Given the description of an element on the screen output the (x, y) to click on. 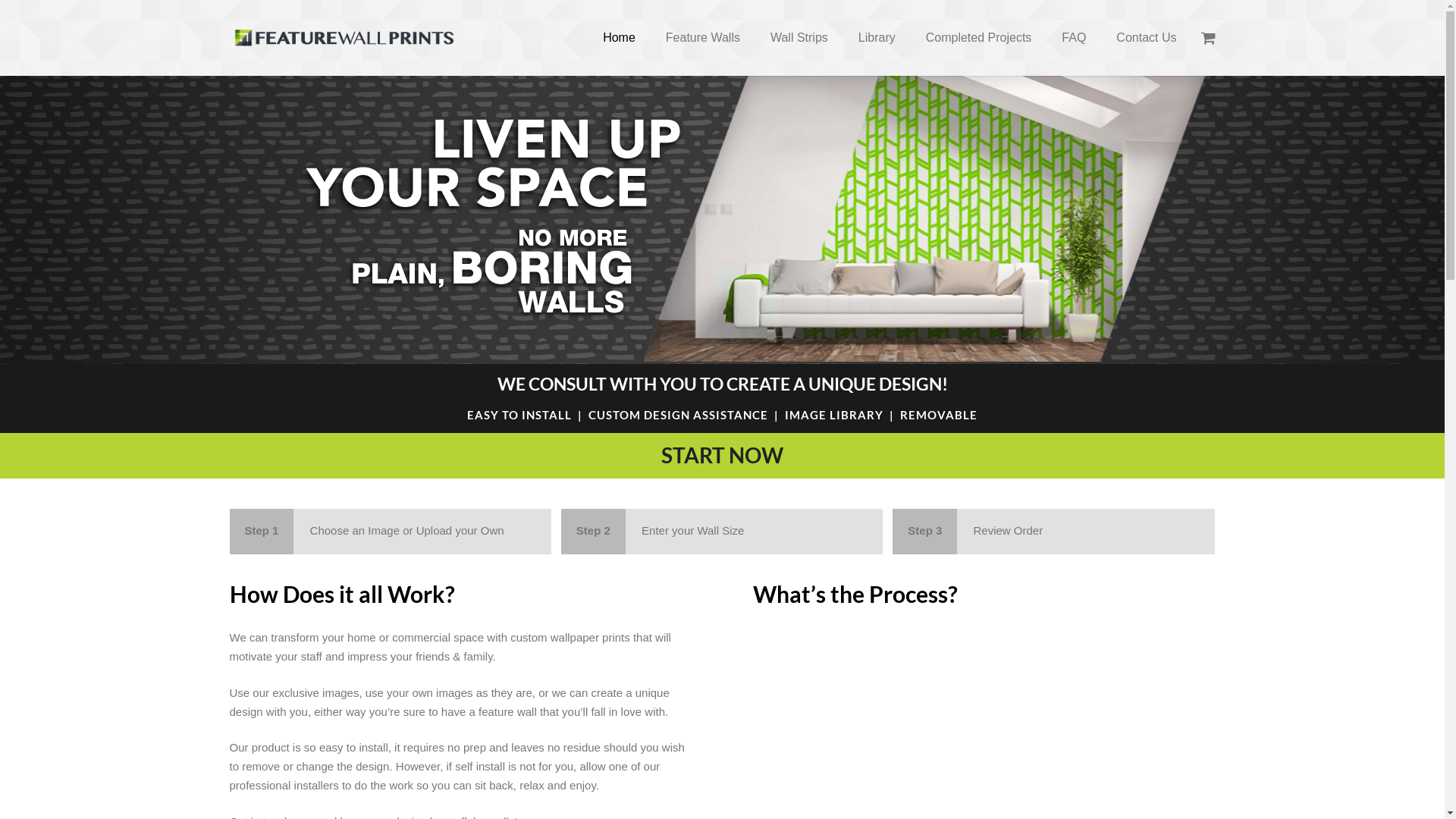
FAQ Element type: text (1073, 38)
Feature Walls Element type: text (702, 38)
START NOW Element type: text (722, 454)
Wall Strips Element type: text (799, 38)
Contact Us Element type: text (1146, 38)
Completed Projects Element type: text (978, 38)
Library Element type: text (876, 38)
Home Element type: text (618, 38)
